Given the description of an element on the screen output the (x, y) to click on. 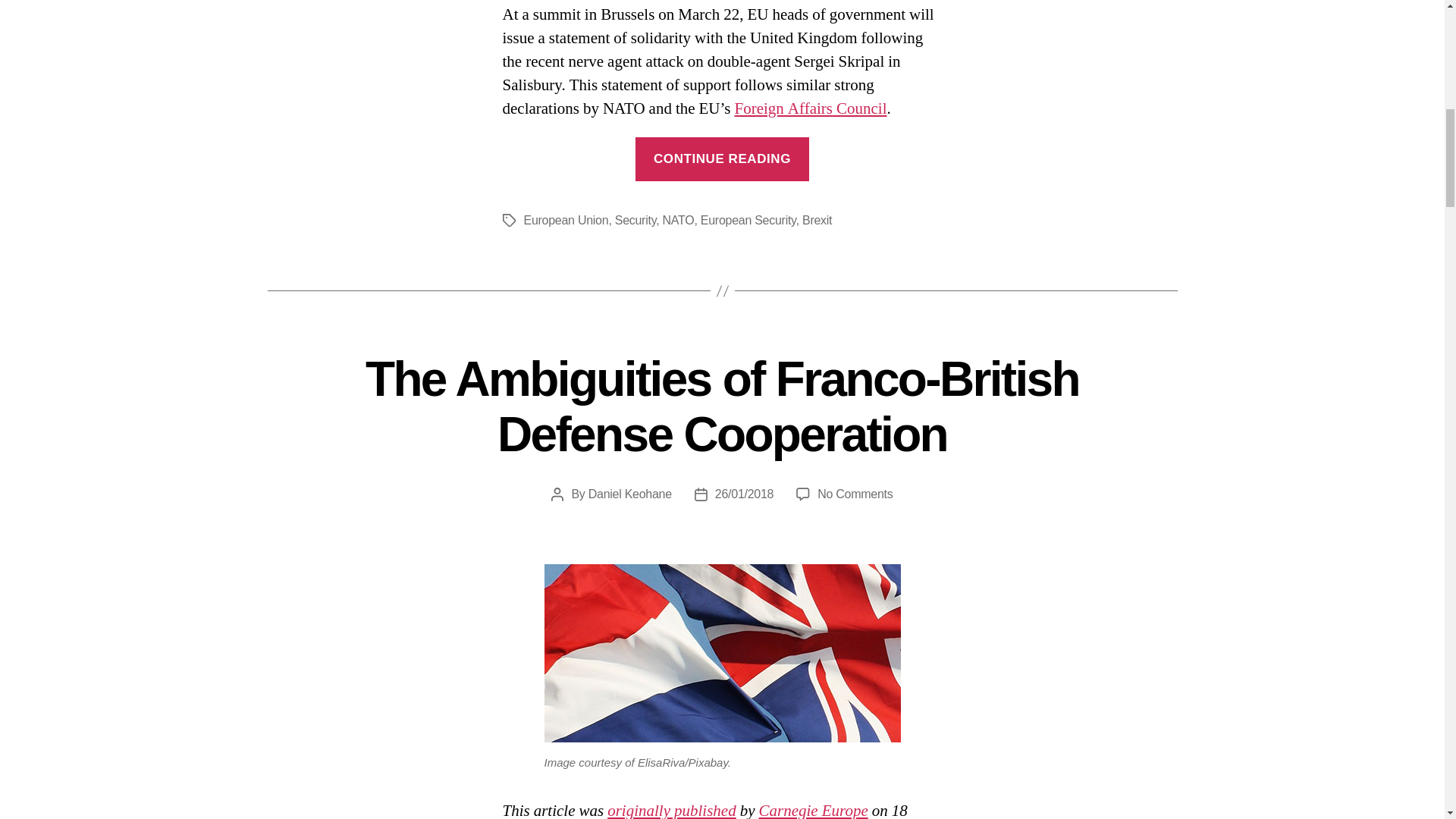
The Ambiguities of Franco-British Defense Cooperation (721, 406)
European Security (748, 219)
European Union (565, 219)
Foreign Affairs Council (810, 108)
Brexit (816, 219)
NATO (678, 219)
Security (635, 219)
Daniel Keohane (629, 493)
